Given the description of an element on the screen output the (x, y) to click on. 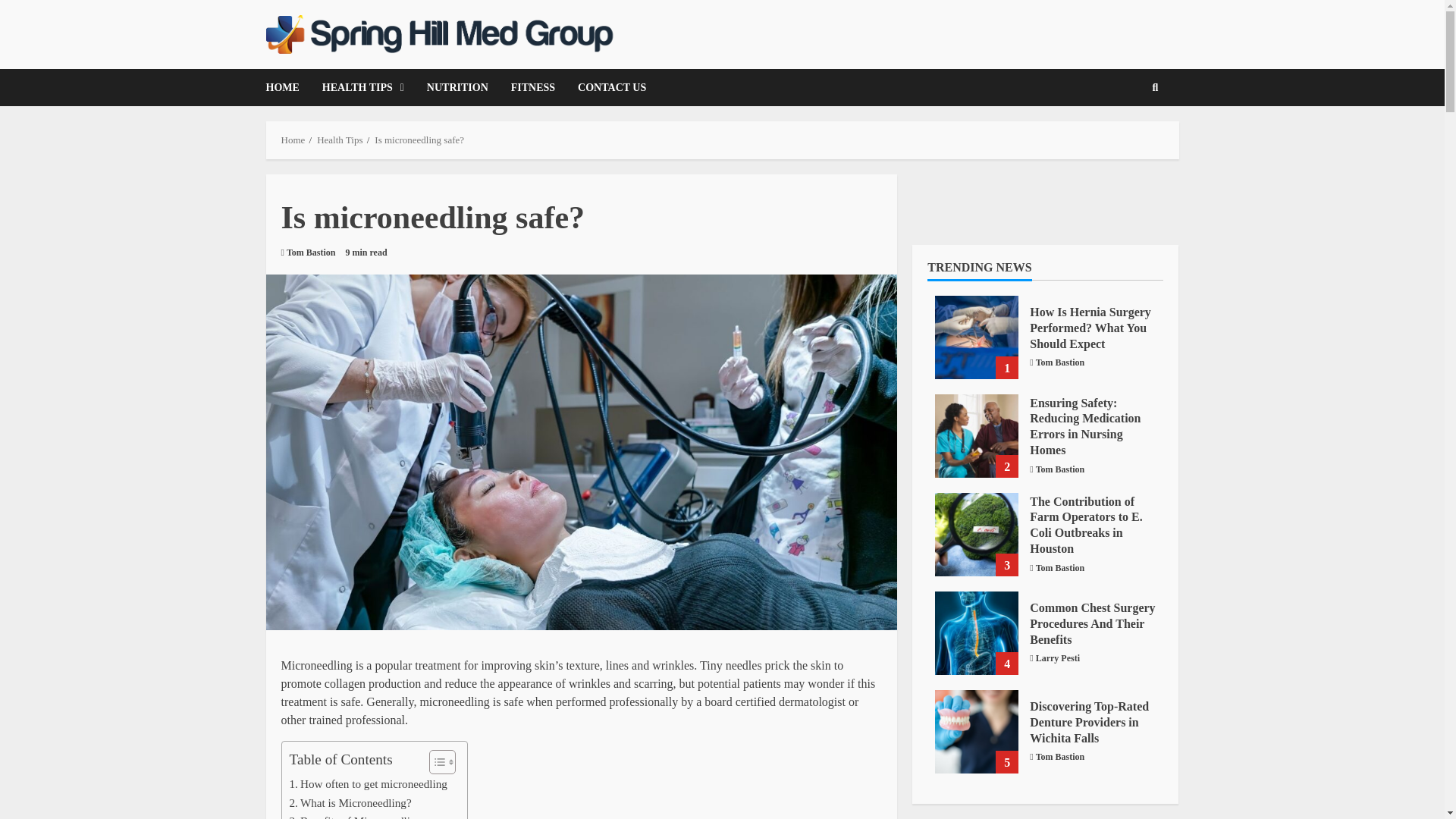
HEALTH TIPS (362, 87)
FITNESS (532, 87)
NUTRITION (456, 87)
What is Microneedling? (350, 802)
HOME (287, 87)
Benefits of Microneedling (355, 815)
CONTACT US (606, 87)
How often to get microneedling (367, 783)
Health Tips (339, 139)
Tom Bastion (311, 252)
